Given the description of an element on the screen output the (x, y) to click on. 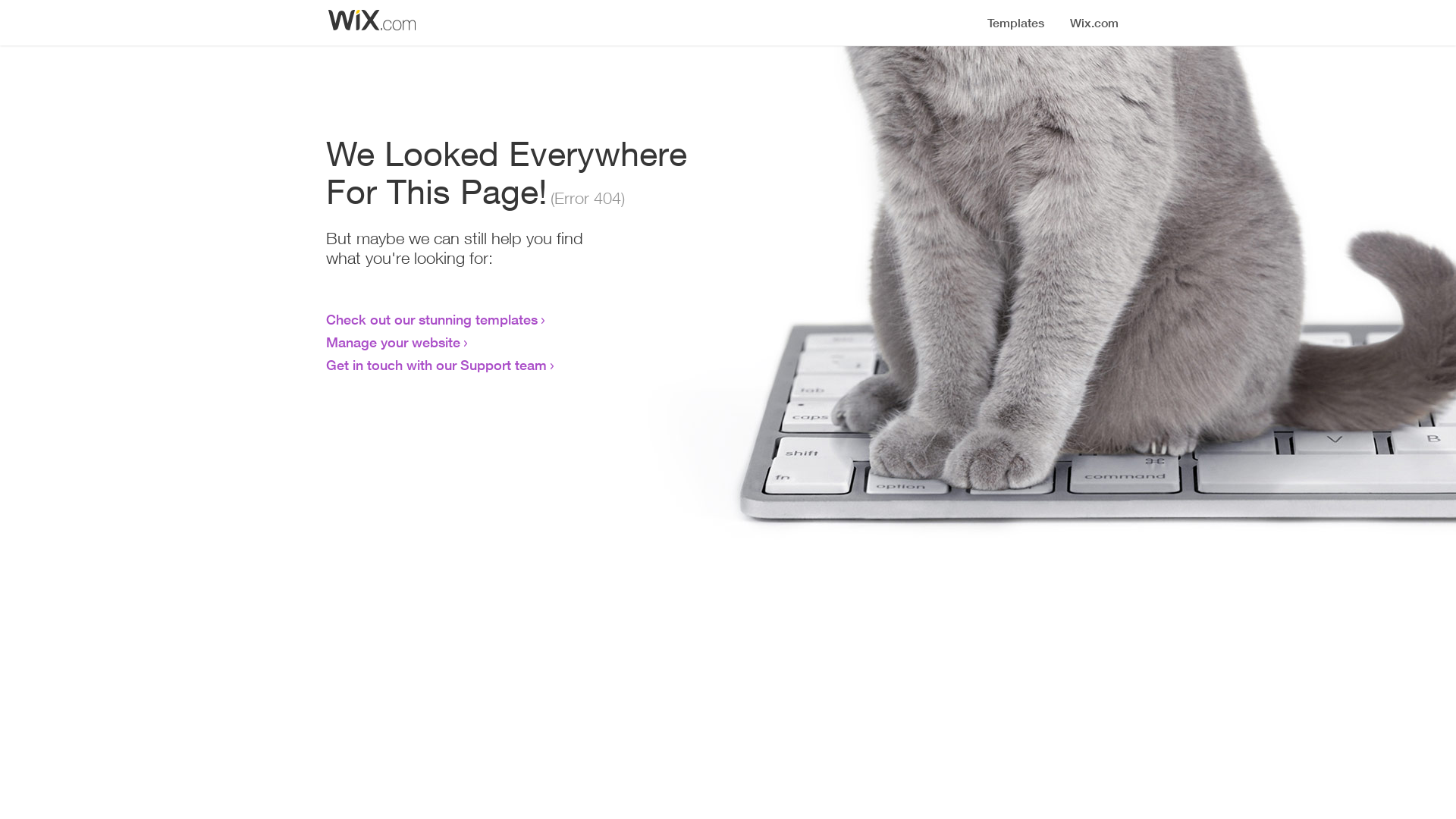
Check out our stunning templates Element type: text (431, 318)
Manage your website Element type: text (393, 341)
Get in touch with our Support team Element type: text (436, 364)
